Given the description of an element on the screen output the (x, y) to click on. 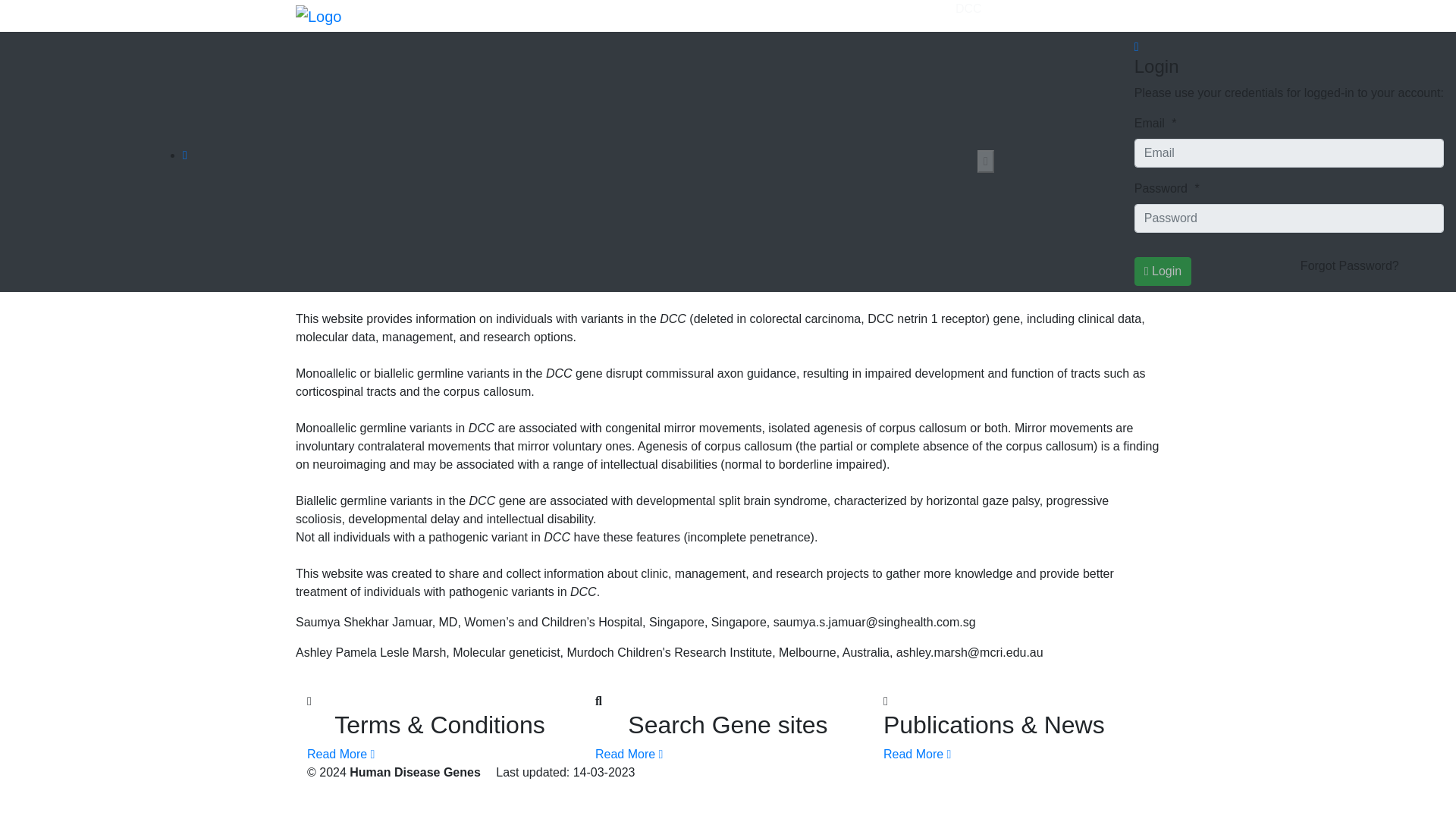
Login (1162, 271)
Read More (916, 753)
Read More (340, 753)
Read More (628, 753)
Forgot Password? (1349, 265)
